Given the description of an element on the screen output the (x, y) to click on. 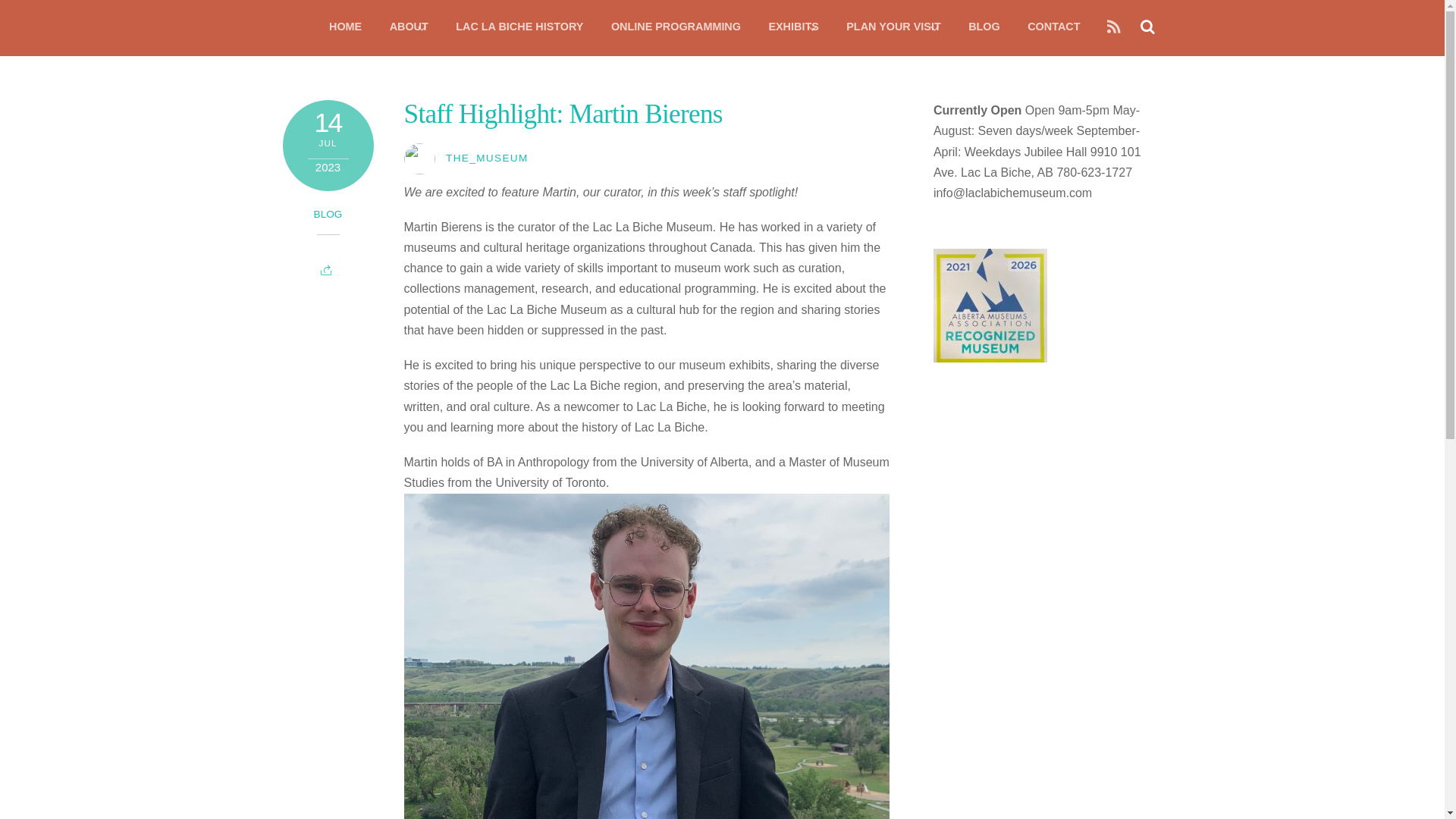
Staff Highlight: Martin Bierens (563, 113)
PLAN YOUR VISIT (893, 26)
ONLINE PROGRAMMING (675, 26)
EXHIBITS (792, 26)
HOME (345, 26)
ABOUT (409, 26)
CONTACT (1053, 26)
BLOG (328, 214)
BLOG (983, 26)
LAC LA BICHE HISTORY (519, 26)
RSS (1113, 26)
Search (1144, 26)
